Given the description of an element on the screen output the (x, y) to click on. 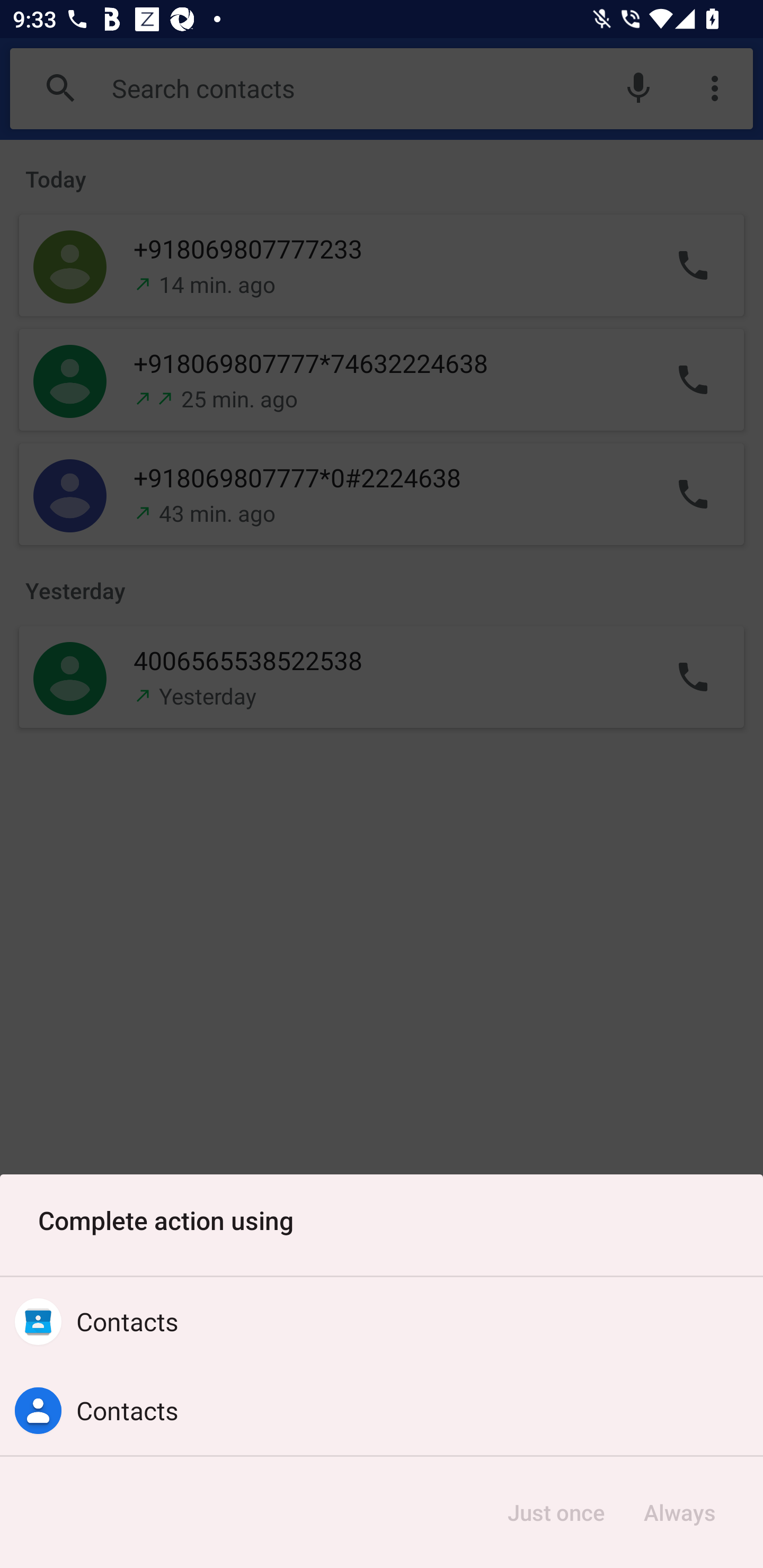
Contacts (381, 1321)
Contacts (381, 1410)
Just once (556, 1512)
Always (679, 1512)
